Given the description of an element on the screen output the (x, y) to click on. 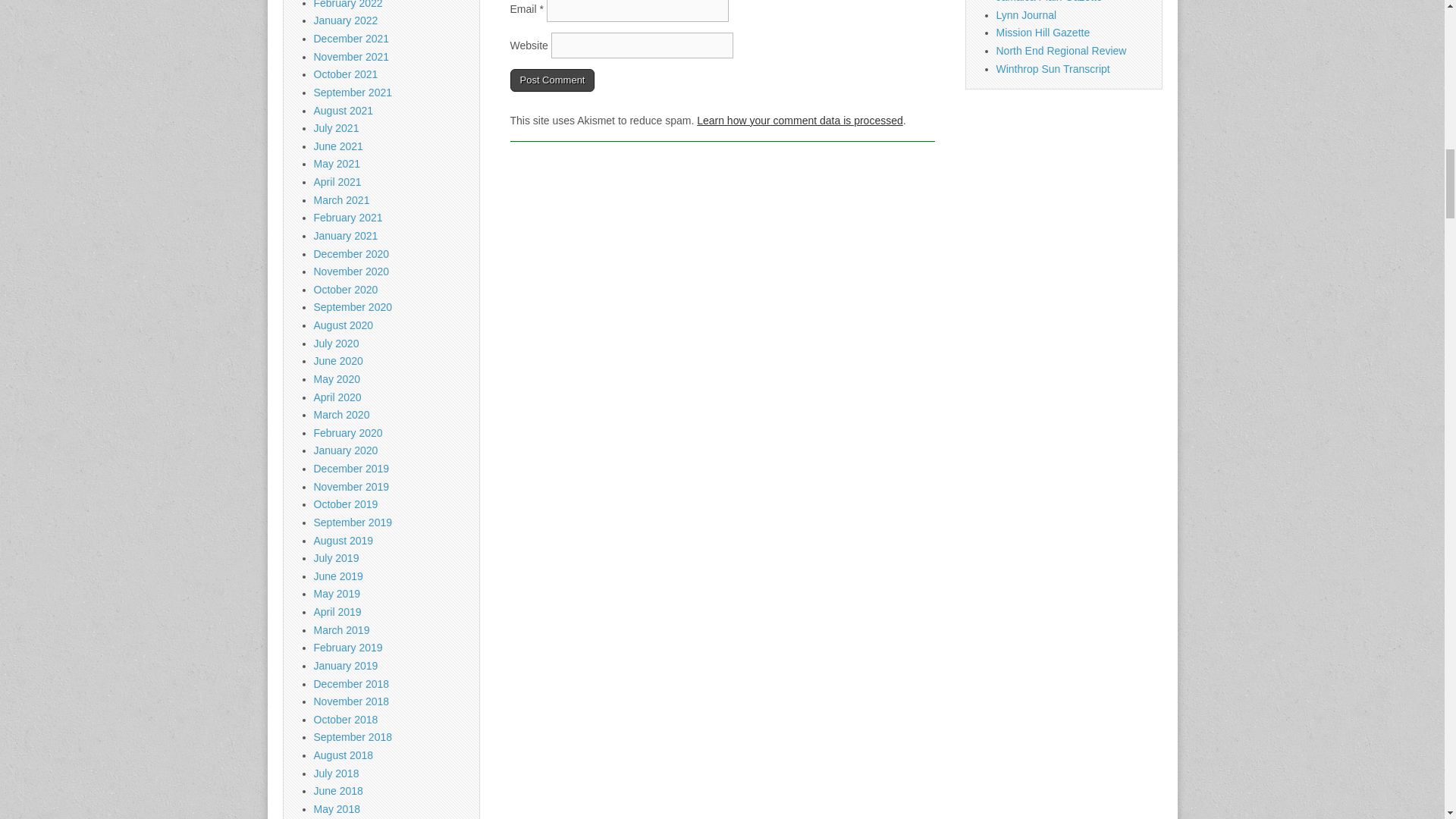
Post Comment (551, 79)
Post Comment (551, 79)
Learn how your comment data is processed (799, 120)
Lynn Journal (1026, 15)
